Given the description of an element on the screen output the (x, y) to click on. 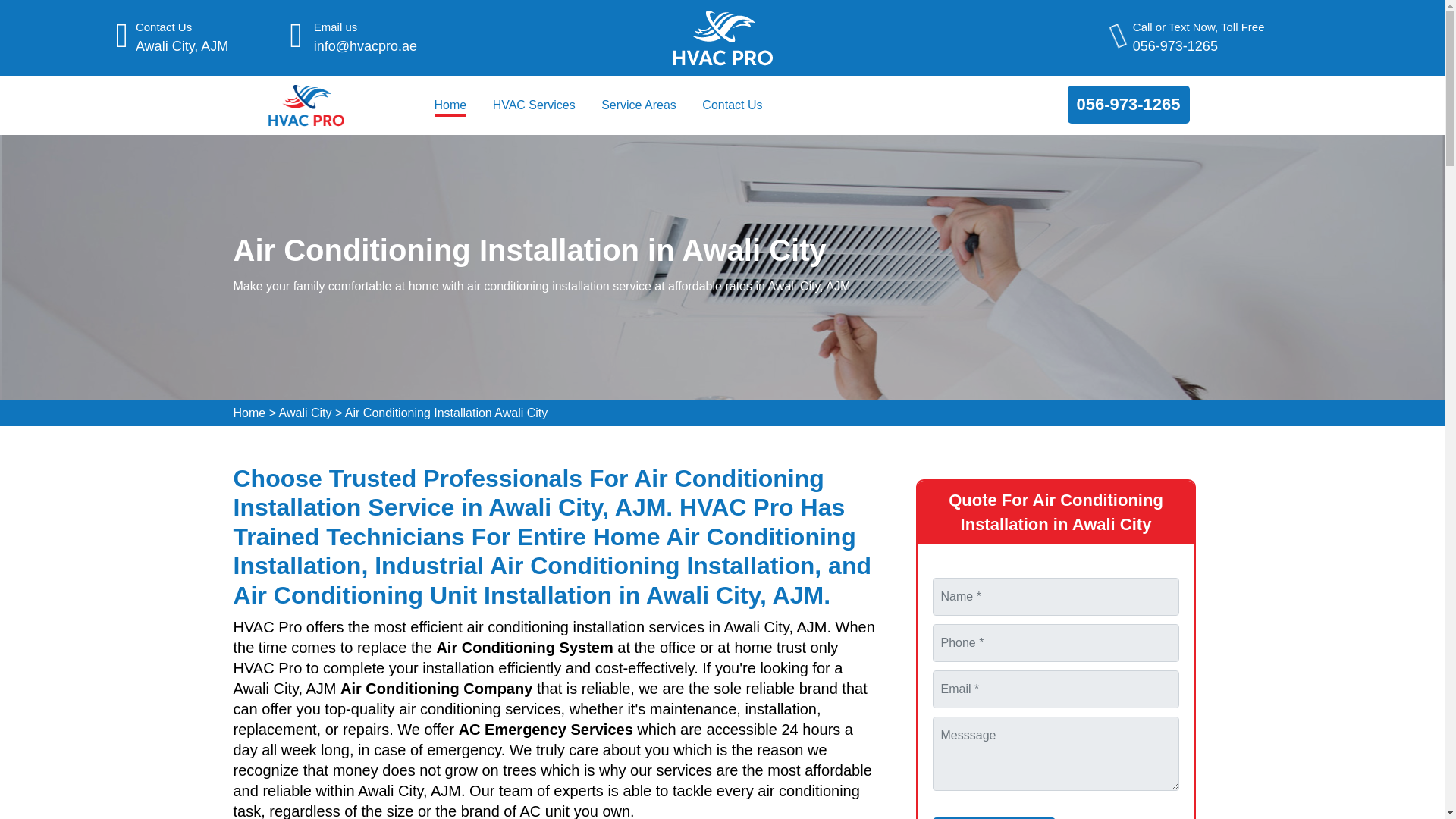
Air Conditioning Installation Awali City (446, 412)
Contact Us (731, 105)
Home (249, 412)
056-973-1265 (1198, 46)
Service Areas (639, 105)
HVAC Services (534, 105)
Awali City (305, 412)
056-973-1265 (1128, 103)
Awali City, AJM (181, 46)
